Given the description of an element on the screen output the (x, y) to click on. 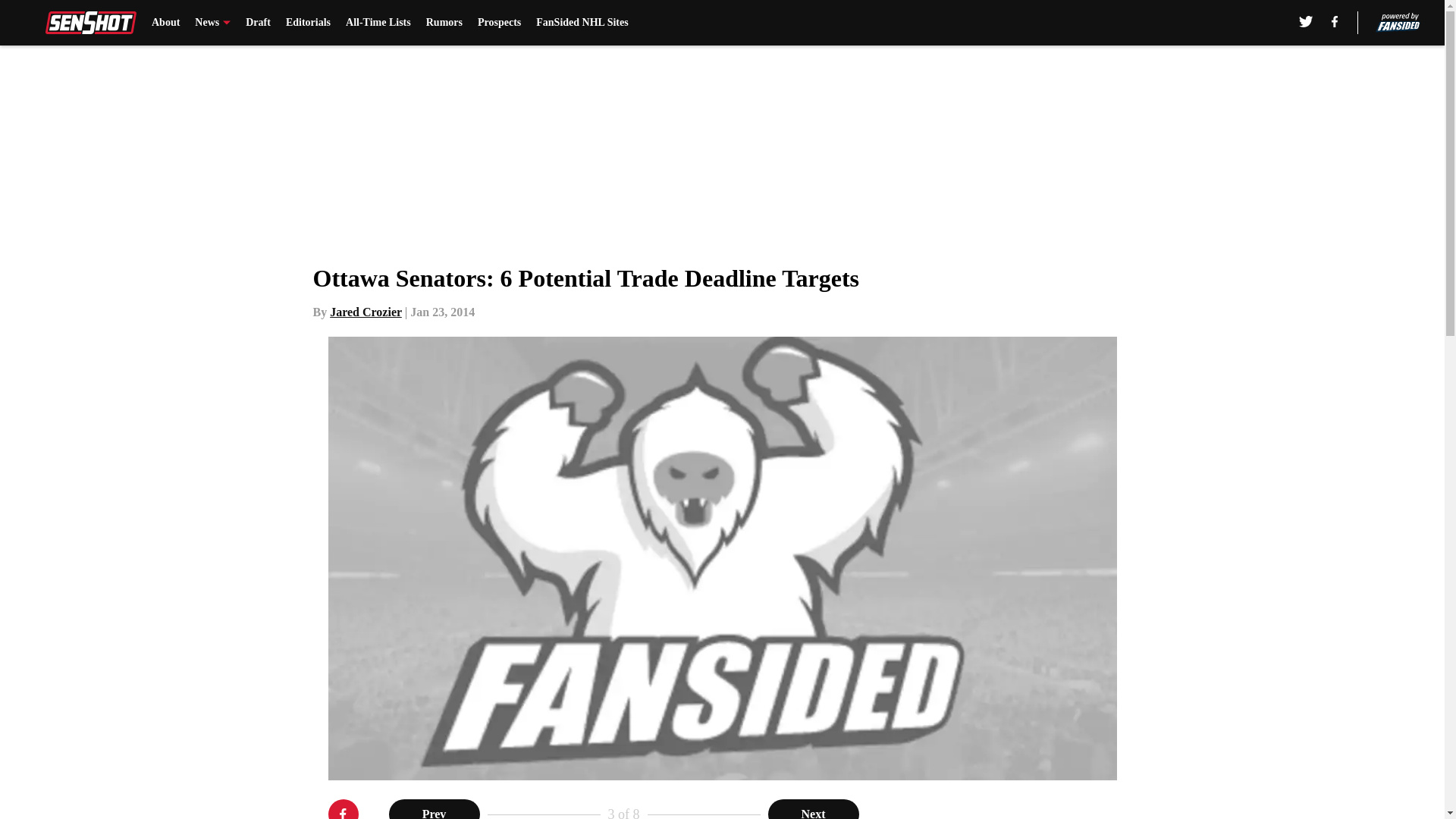
Rumors (444, 22)
Next (813, 809)
Prev (433, 809)
FanSided NHL Sites (581, 22)
About (165, 22)
Draft (258, 22)
Editorials (307, 22)
All-Time Lists (378, 22)
Prospects (499, 22)
Jared Crozier (365, 311)
